Given the description of an element on the screen output the (x, y) to click on. 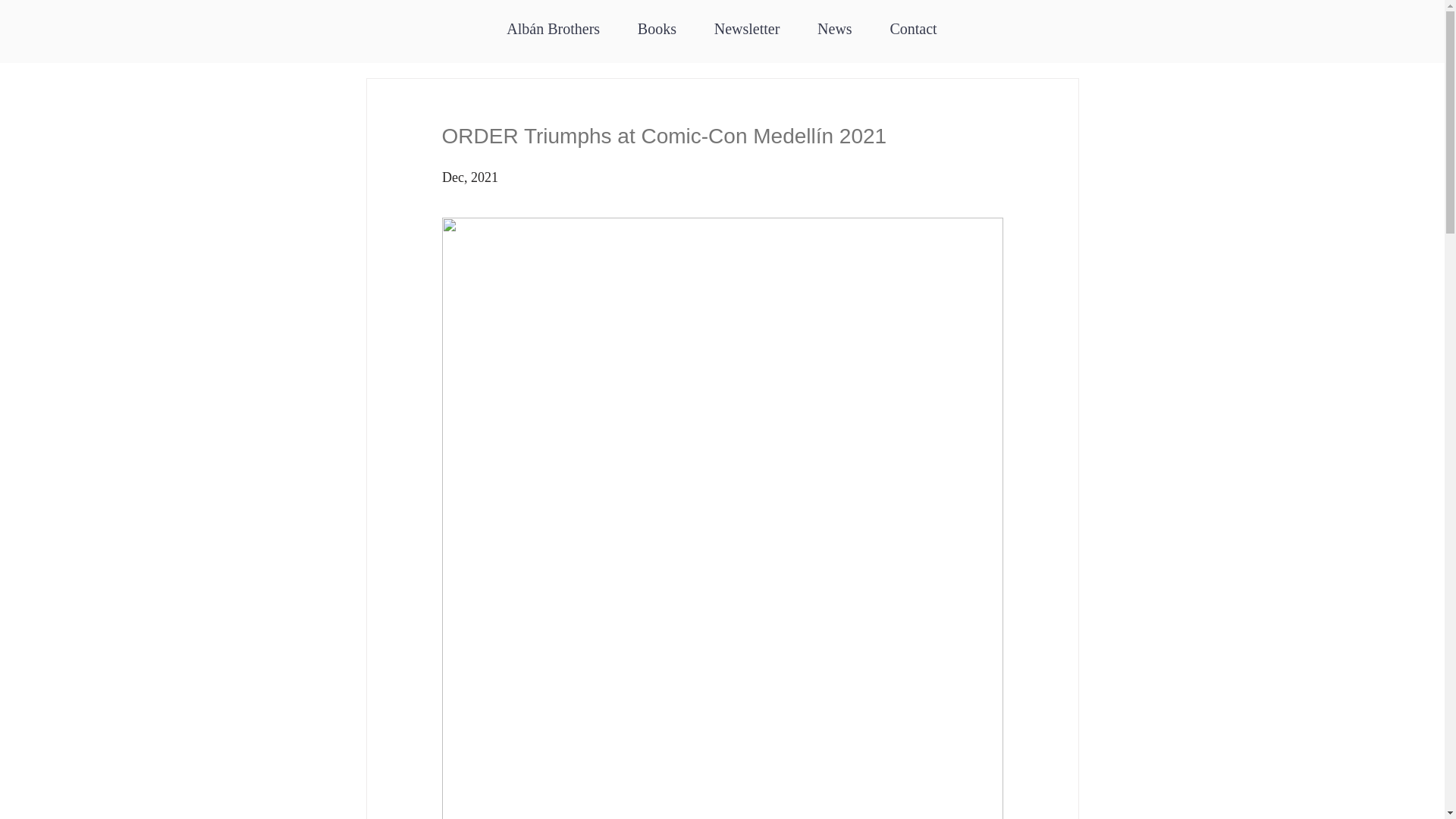
Newsletter (746, 29)
Books (657, 29)
Contact (914, 29)
News (834, 29)
